Given the description of an element on the screen output the (x, y) to click on. 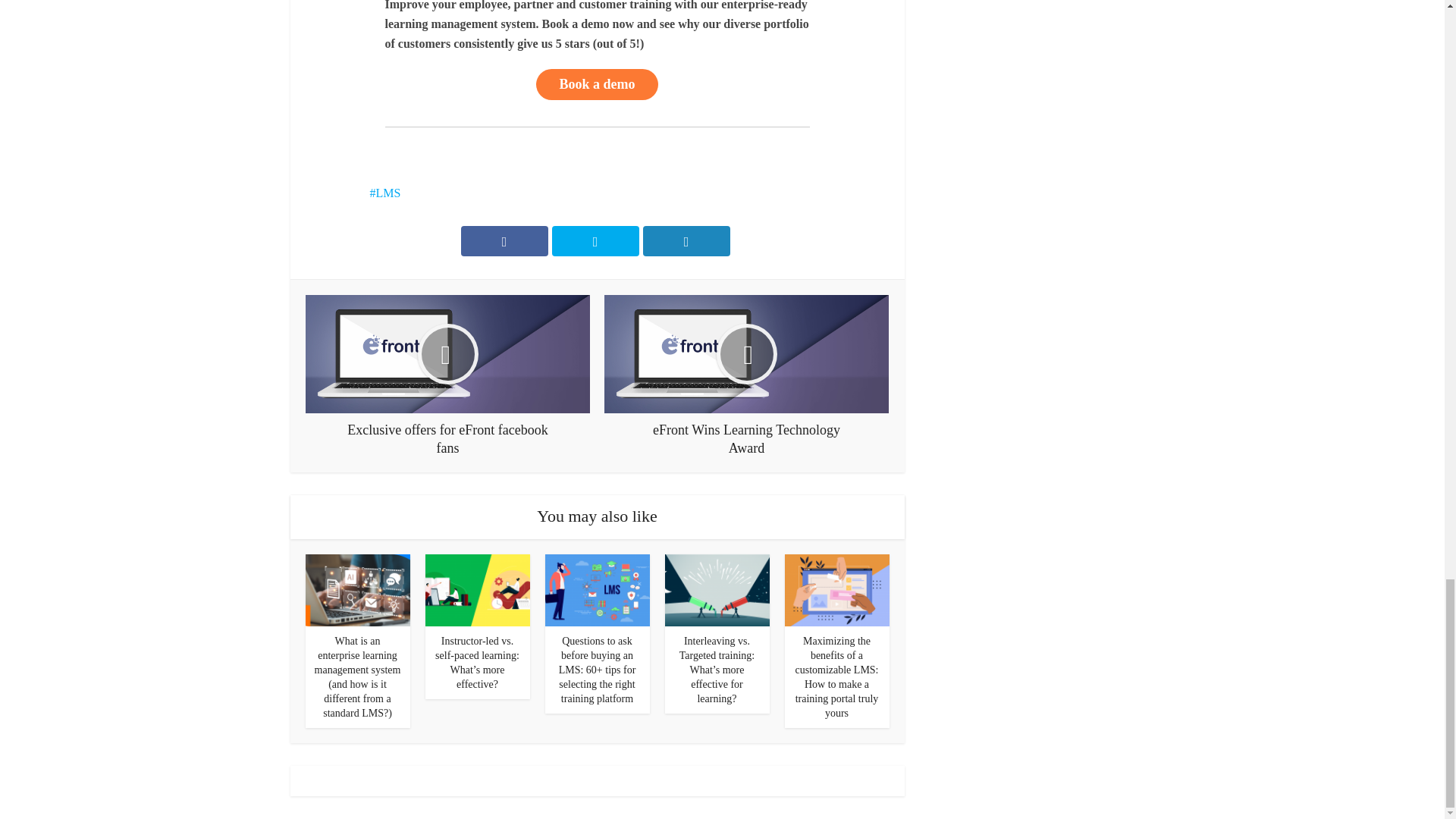
LMS (385, 192)
Exclusive offers for eFront facebook fans (447, 375)
eFront Wins Learning Technology Award (746, 375)
Book a demo (596, 83)
